Given the description of an element on the screen output the (x, y) to click on. 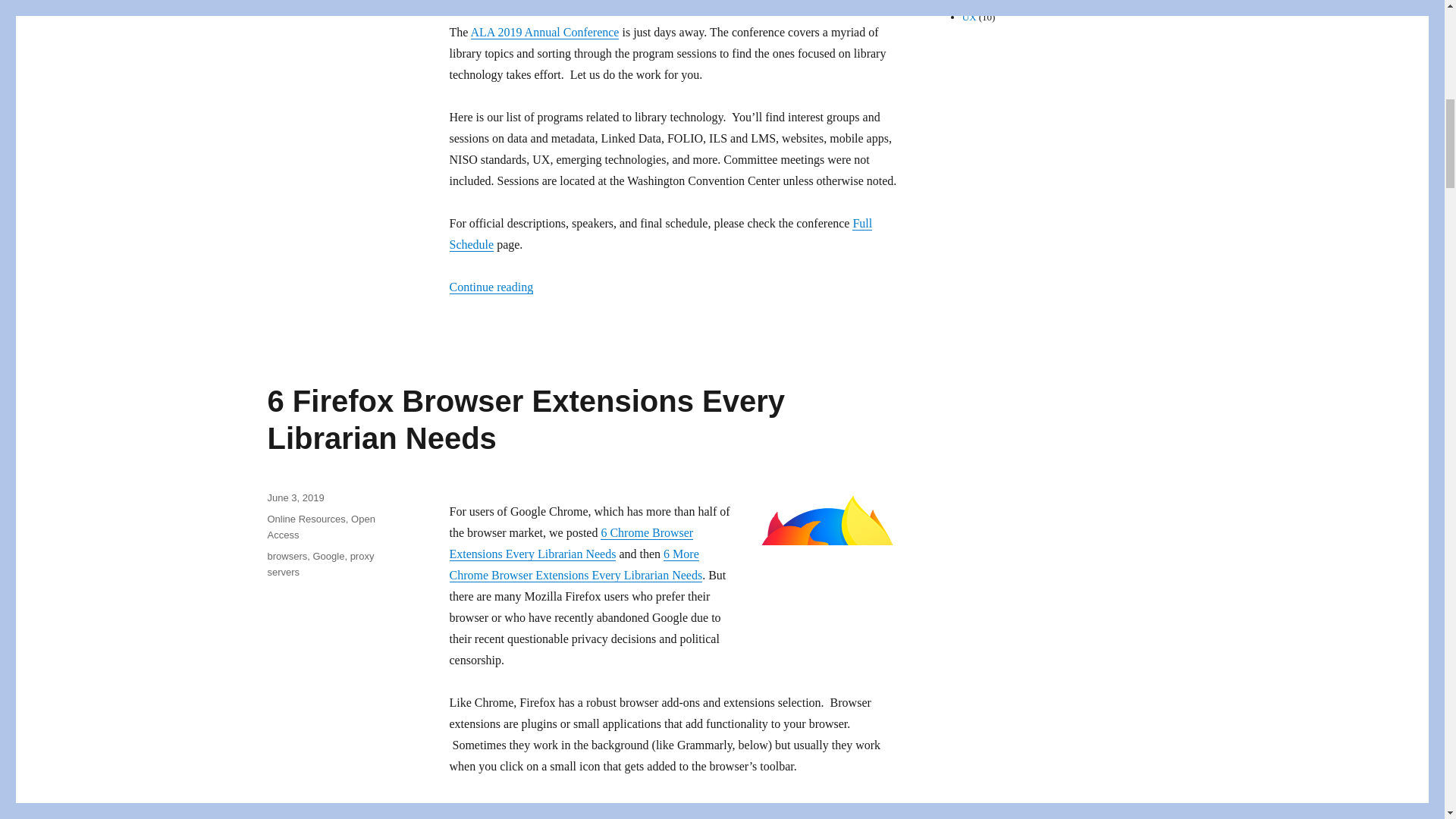
6 More Chrome Browser Extensions Every Librarian Needs (574, 564)
Google (328, 555)
6 Firefox Browser Extensions Every Librarian Needs (525, 419)
6 Chrome Browser Extensions Every Librarian Needs (570, 543)
browsers (286, 555)
Online Resources (305, 518)
June 3, 2019 (294, 497)
Full Schedule (660, 233)
Open Access (320, 526)
ALA 2019 Annual Conference (544, 31)
